Given the description of an element on the screen output the (x, y) to click on. 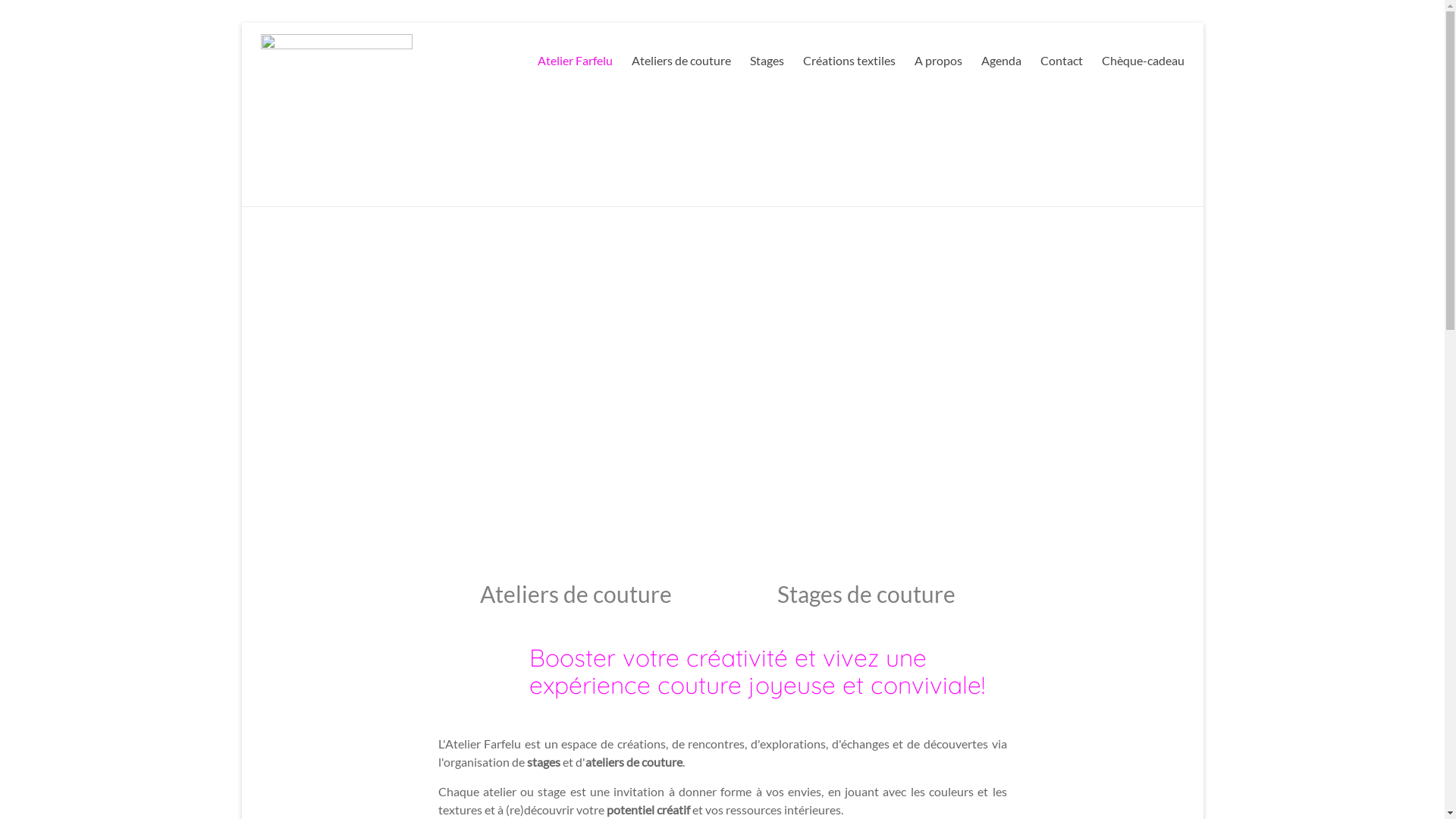
Ateliers de couture Element type: text (575, 593)
Stages Element type: text (766, 60)
Atelier Farfelu Element type: text (573, 60)
Contact Element type: text (1061, 60)
Stages de couture  Element type: text (868, 593)
A propos Element type: text (938, 60)
Ateliers de couture Element type: text (680, 60)
Aller au contenu Element type: text (241, 21)
Agenda Element type: text (1001, 60)
